Given the description of an element on the screen output the (x, y) to click on. 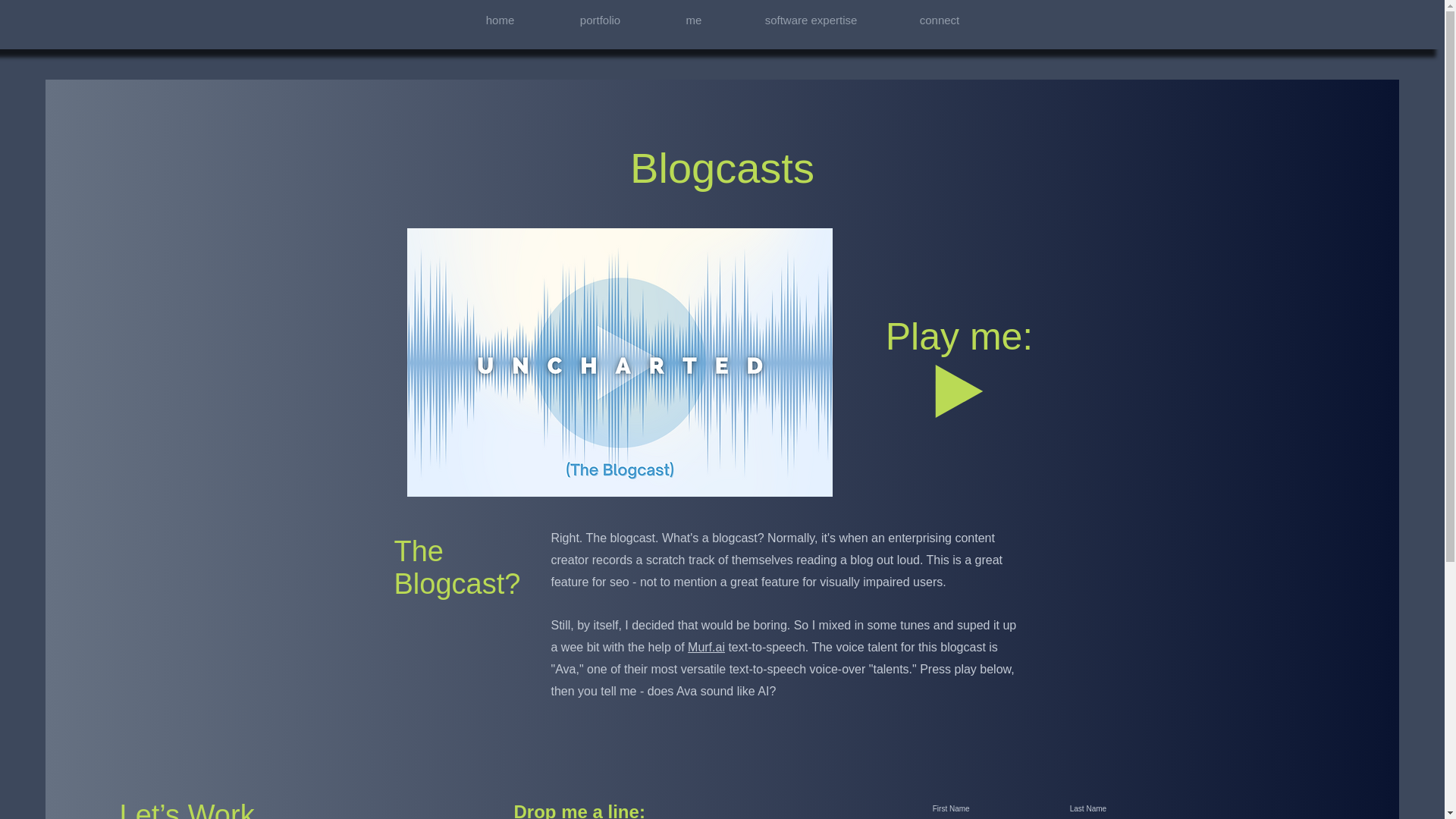
me (693, 20)
Murf.ai (706, 646)
home (499, 20)
connect (939, 20)
software expertise (810, 20)
portfolio (599, 20)
